Given the description of an element on the screen output the (x, y) to click on. 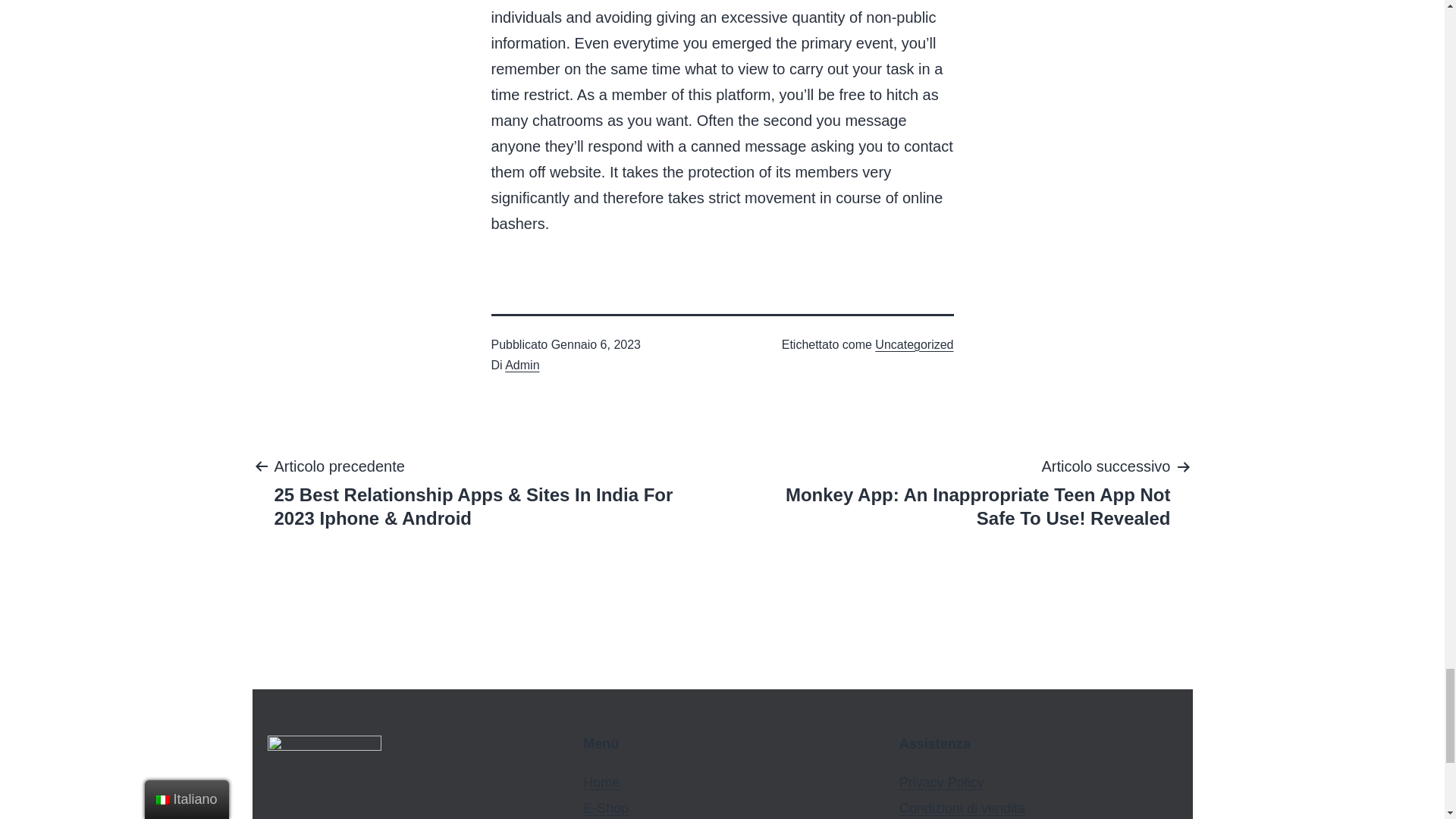
E-Shop (605, 807)
Admin (521, 364)
Privacy Policy (941, 782)
Uncategorized (914, 344)
Condizioni di vendita (962, 807)
Home (601, 782)
